Given the description of an element on the screen output the (x, y) to click on. 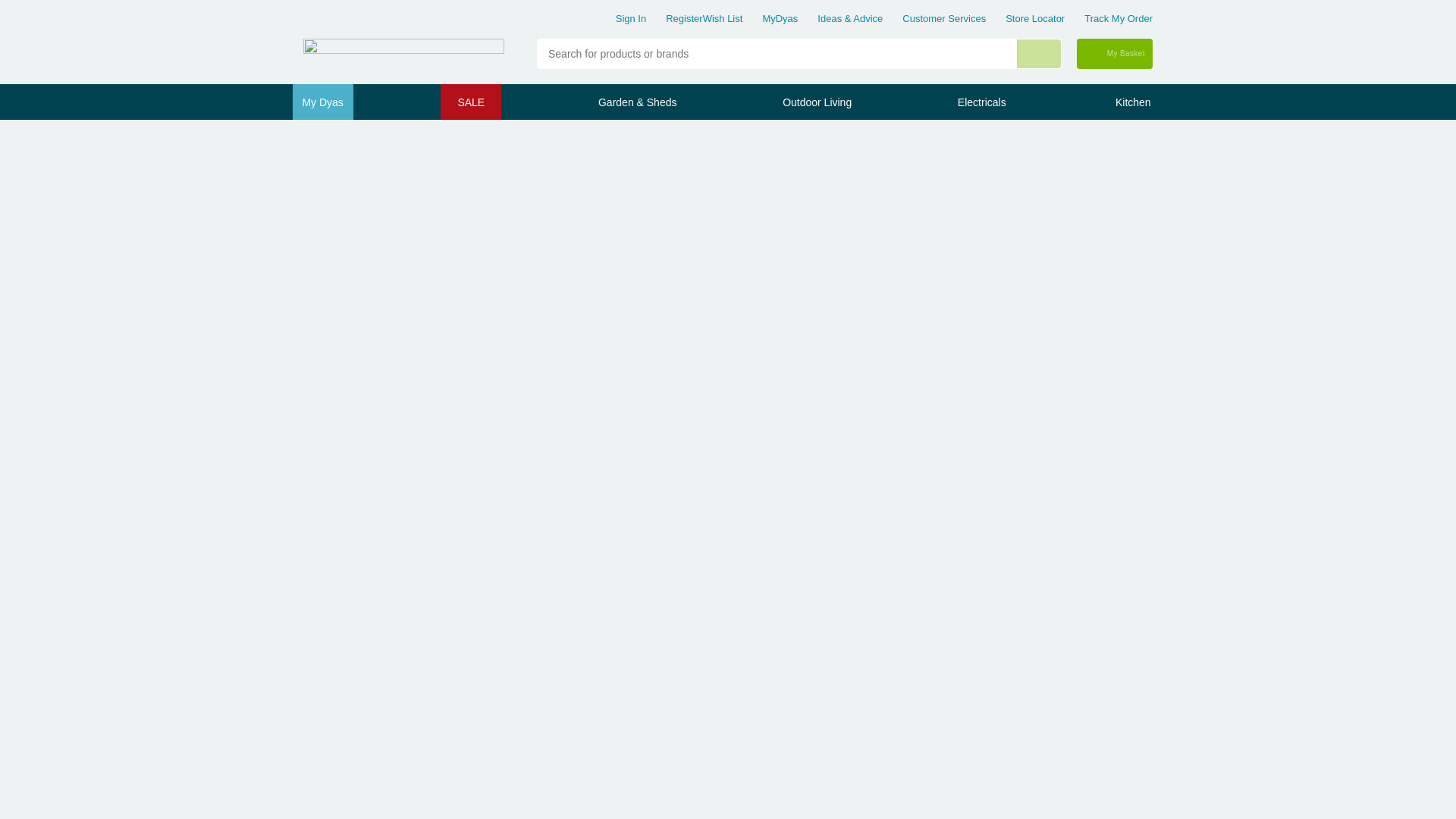
My Basket (1115, 53)
Store Locator (1035, 18)
Register (683, 18)
Wish List (722, 18)
Search (1038, 53)
Sign In (630, 18)
Search (1038, 53)
Track My Order (1118, 18)
MyDyas (779, 18)
Search (1045, 53)
